Given the description of an element on the screen output the (x, y) to click on. 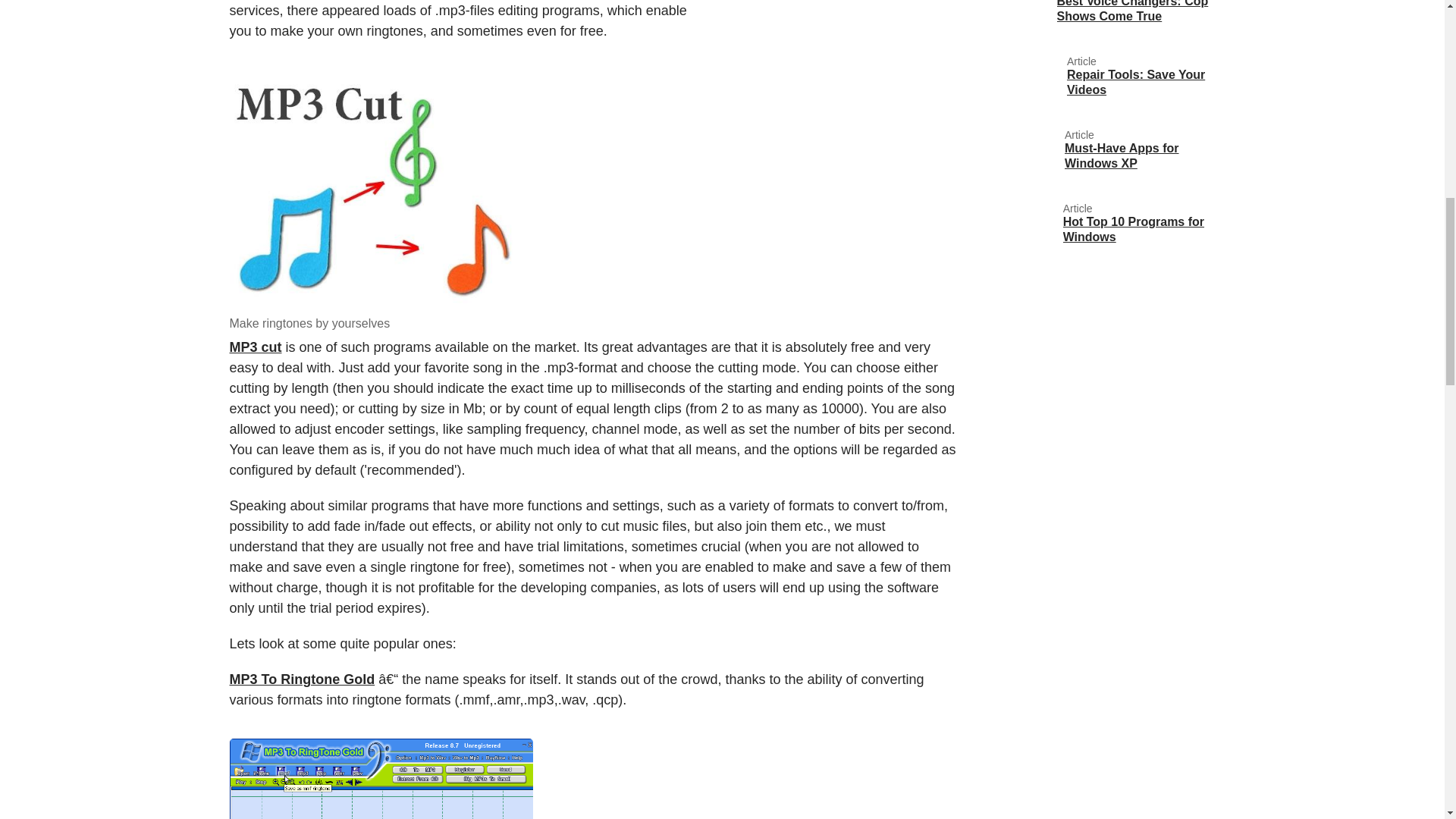
Advertisement (827, 50)
MP3 cut (254, 346)
MP3 To Ringtone Gold (380, 778)
MP3 To Ringtone Gold (301, 679)
Make ringtones by yourselves (380, 190)
